Given the description of an element on the screen output the (x, y) to click on. 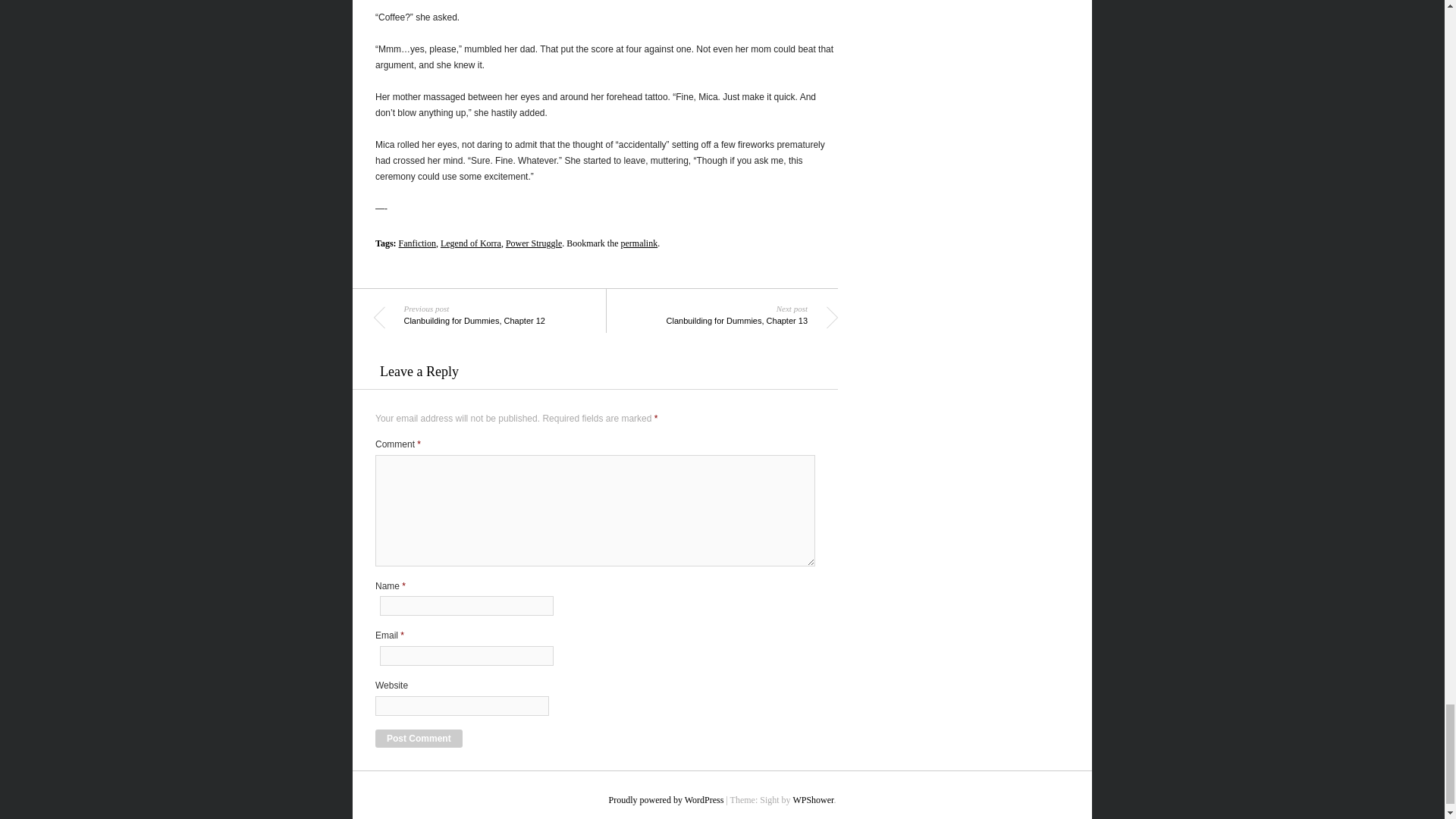
permalink (639, 243)
Post Comment (419, 738)
Legend of Korra (470, 243)
A Semantic Personal Publishing Platform (665, 799)
Post Comment (497, 313)
Fanfiction (419, 738)
Power Struggle (416, 243)
